Given the description of an element on the screen output the (x, y) to click on. 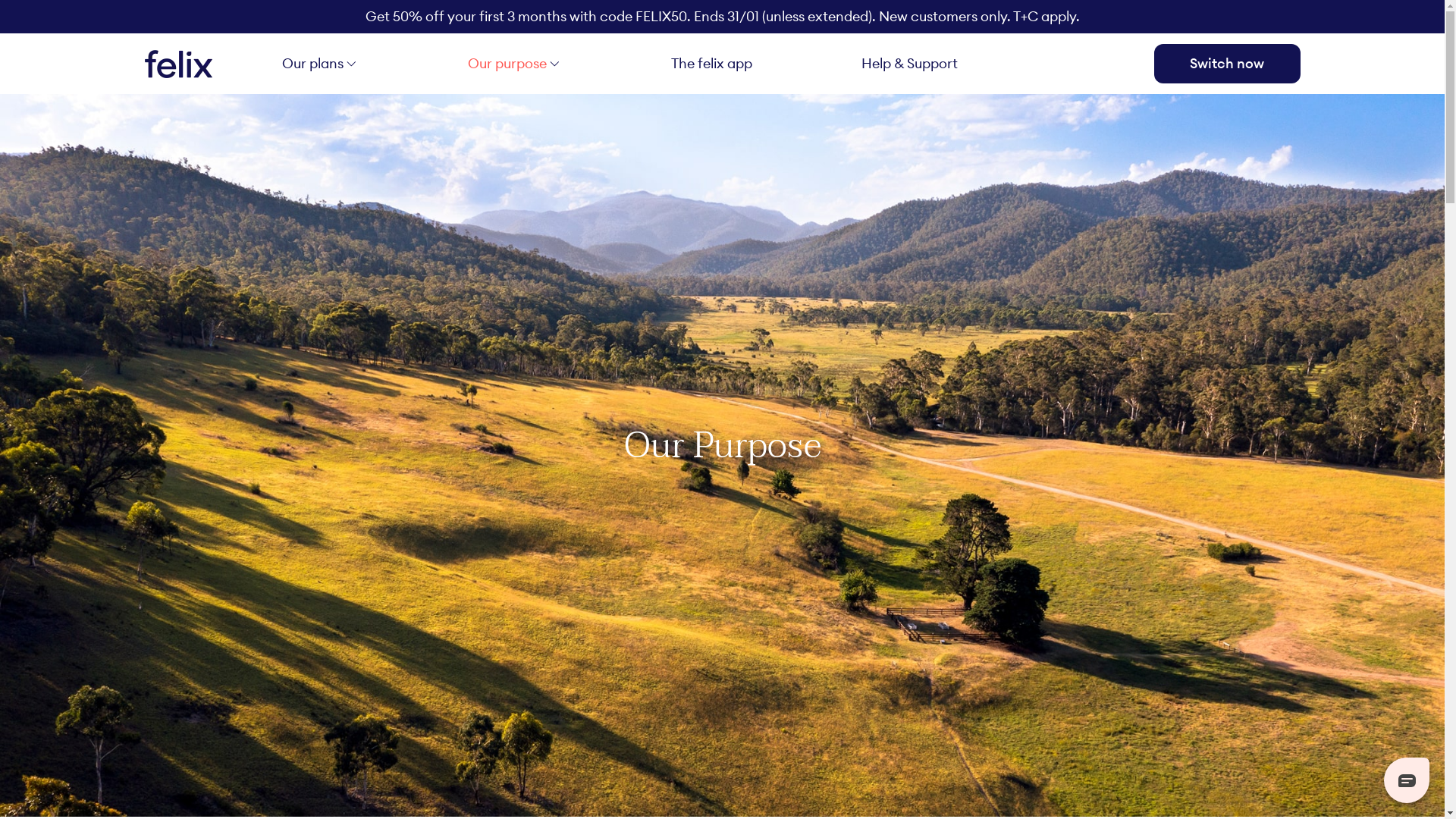
Our purpose Element type: text (506, 63)
Help & Support Element type: text (909, 63)
Our plans Element type: text (312, 63)
Switch now Element type: text (1227, 63)
The felix app Element type: text (710, 63)
